Given the description of an element on the screen output the (x, y) to click on. 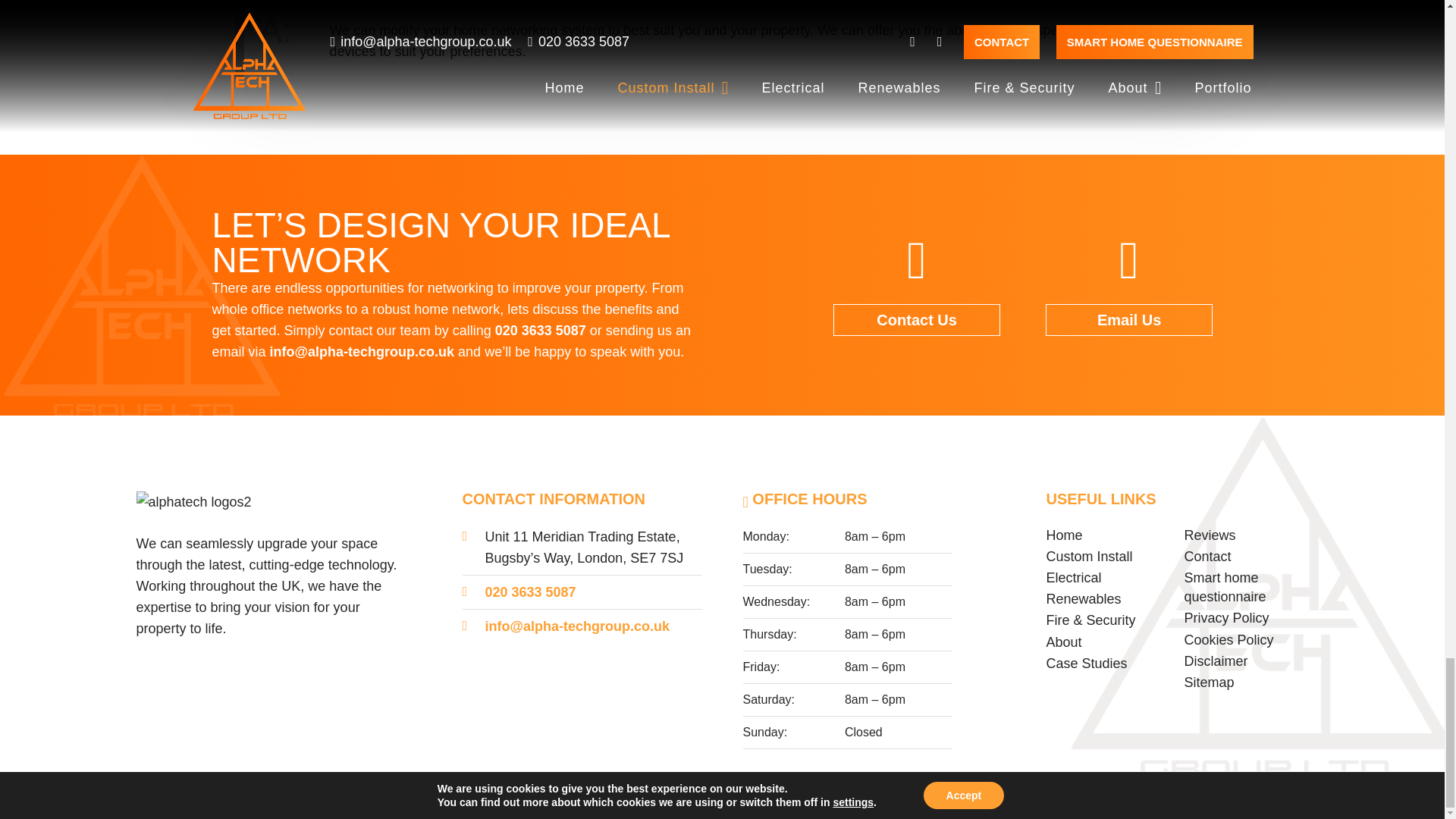
020 3633 5087 (540, 330)
020 3633 5087 (530, 592)
Make Me Local (909, 799)
Contact Us (916, 319)
Email Us (1128, 319)
